Given the description of an element on the screen output the (x, y) to click on. 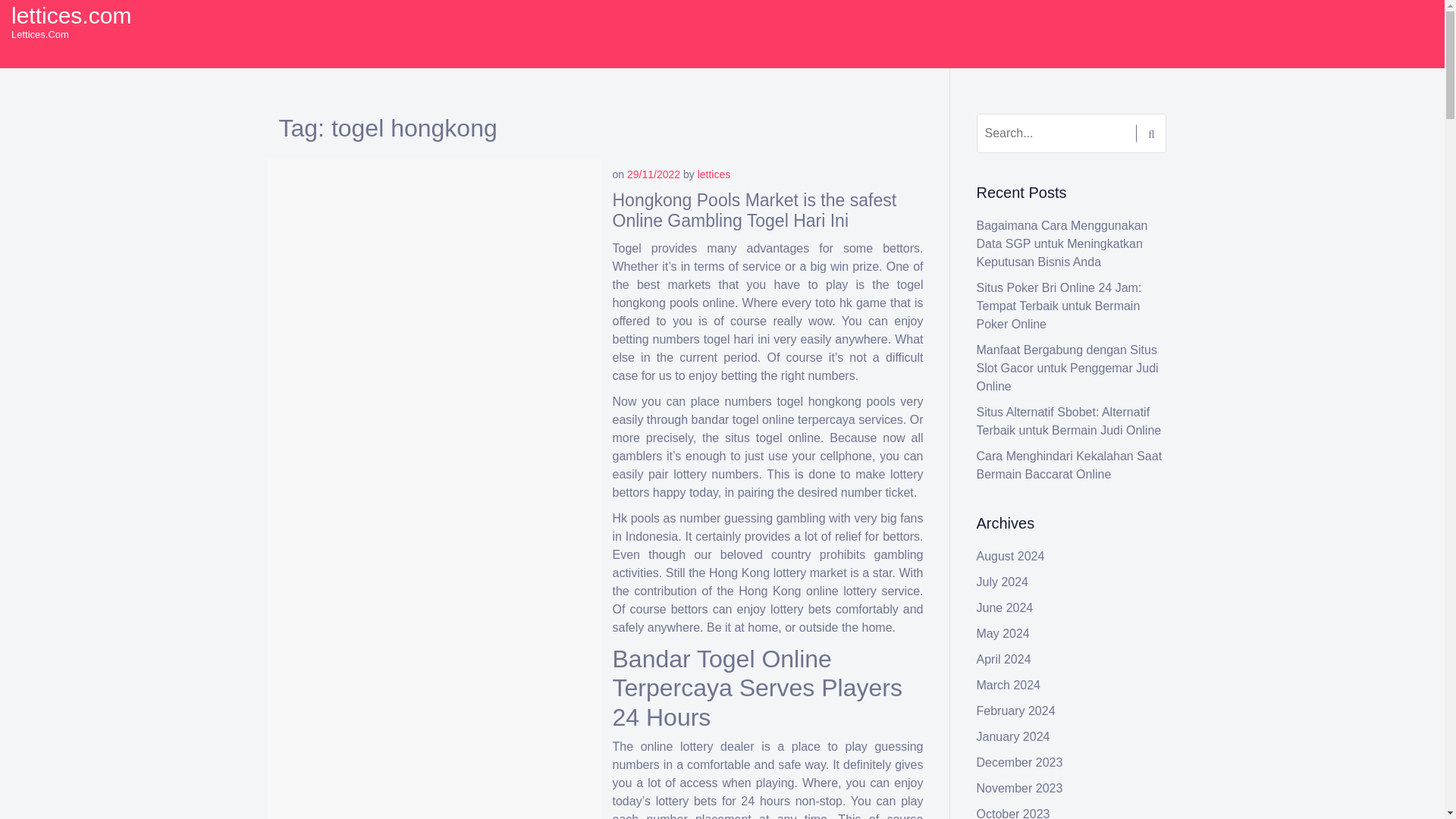
How to Play the Lottery Online (397, 199)
togel hongkong (425, 378)
lettices (713, 174)
June 2024 (1004, 607)
lettices (380, 174)
